Given the description of an element on the screen output the (x, y) to click on. 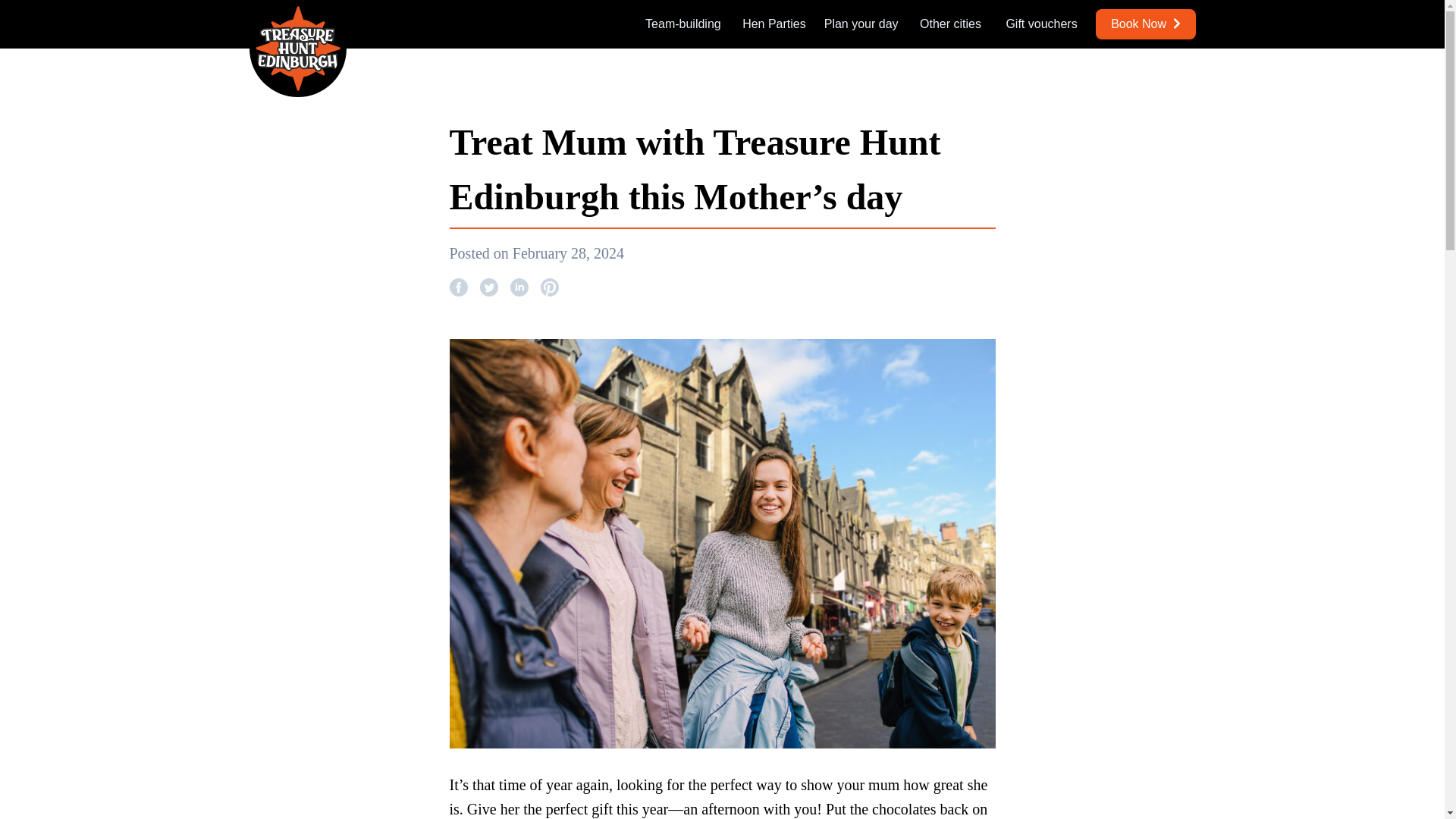
Other cities (950, 24)
Book Now (1145, 24)
Gift vouchers (1041, 24)
Team-building (682, 24)
Hen Parties (774, 24)
Plan your day (861, 24)
